Given the description of an element on the screen output the (x, y) to click on. 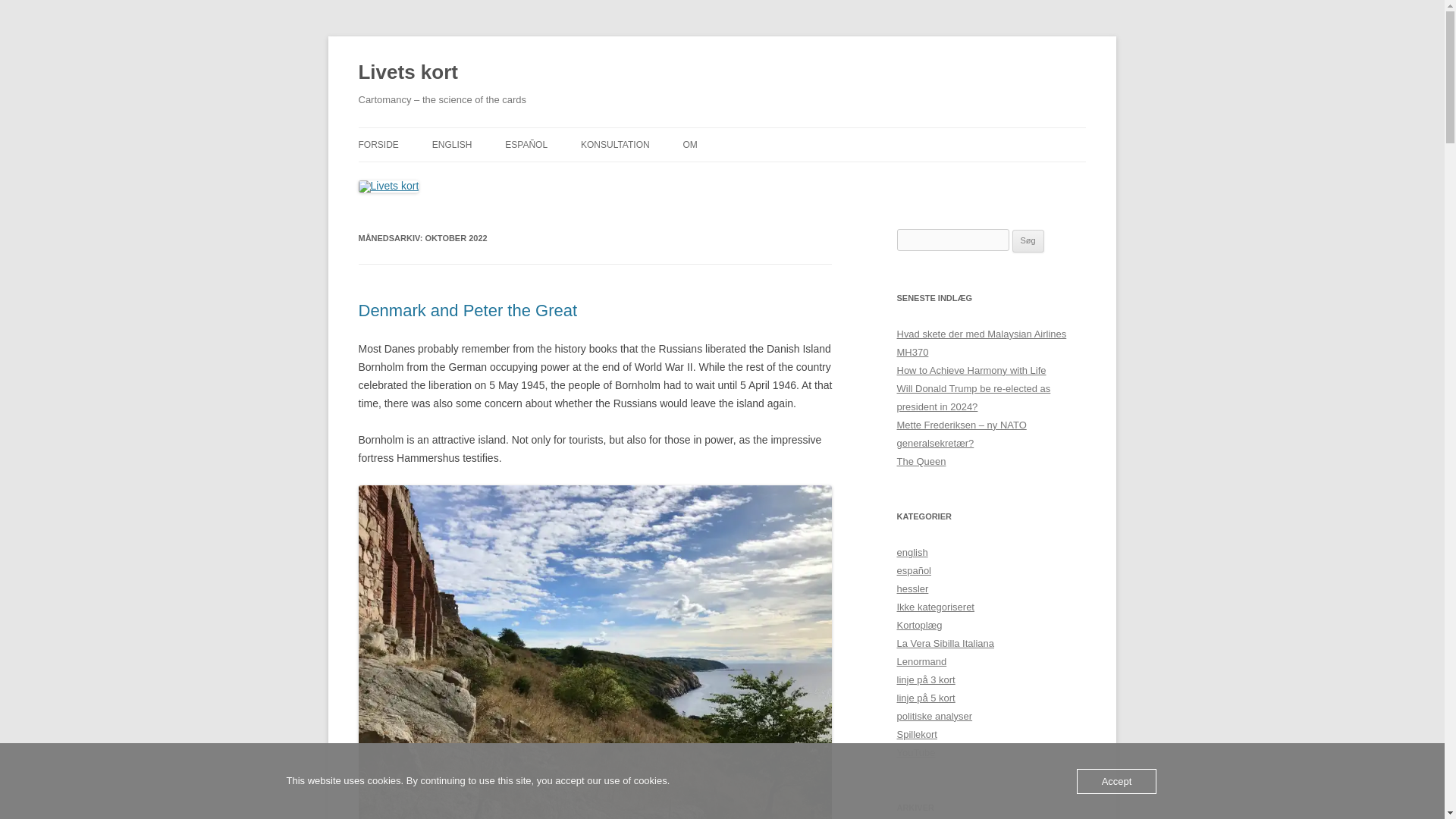
La Vera Sibilla Italiana (945, 643)
The Queen (920, 460)
YouTube (915, 752)
KONSULTATION (614, 144)
hessler (912, 588)
Ikke kategoriseret (935, 606)
ENGLISH (451, 144)
politiske analyser (934, 715)
Hvad skete der med Malaysian Airlines MH370 (980, 342)
